Given the description of an element on the screen output the (x, y) to click on. 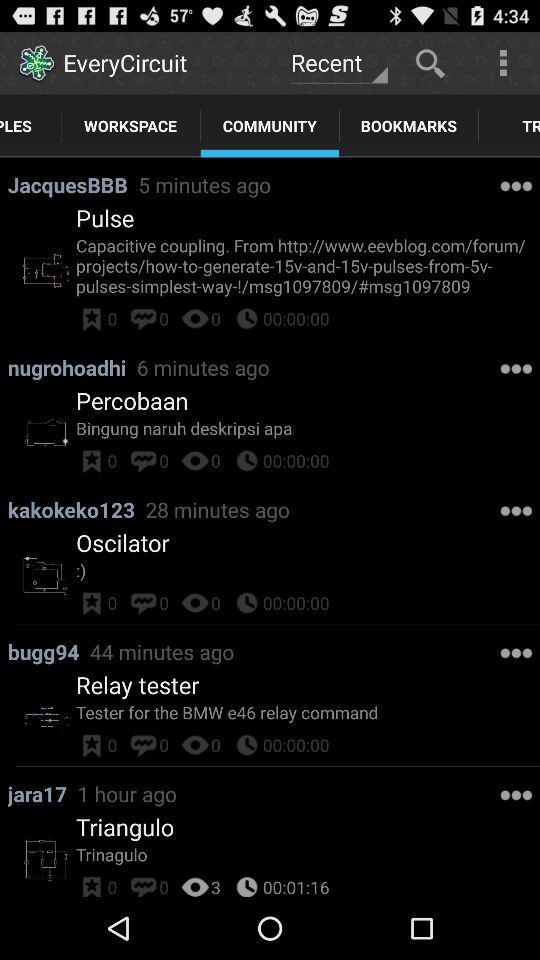
open the item next to the jara17 (126, 793)
